Given the description of an element on the screen output the (x, y) to click on. 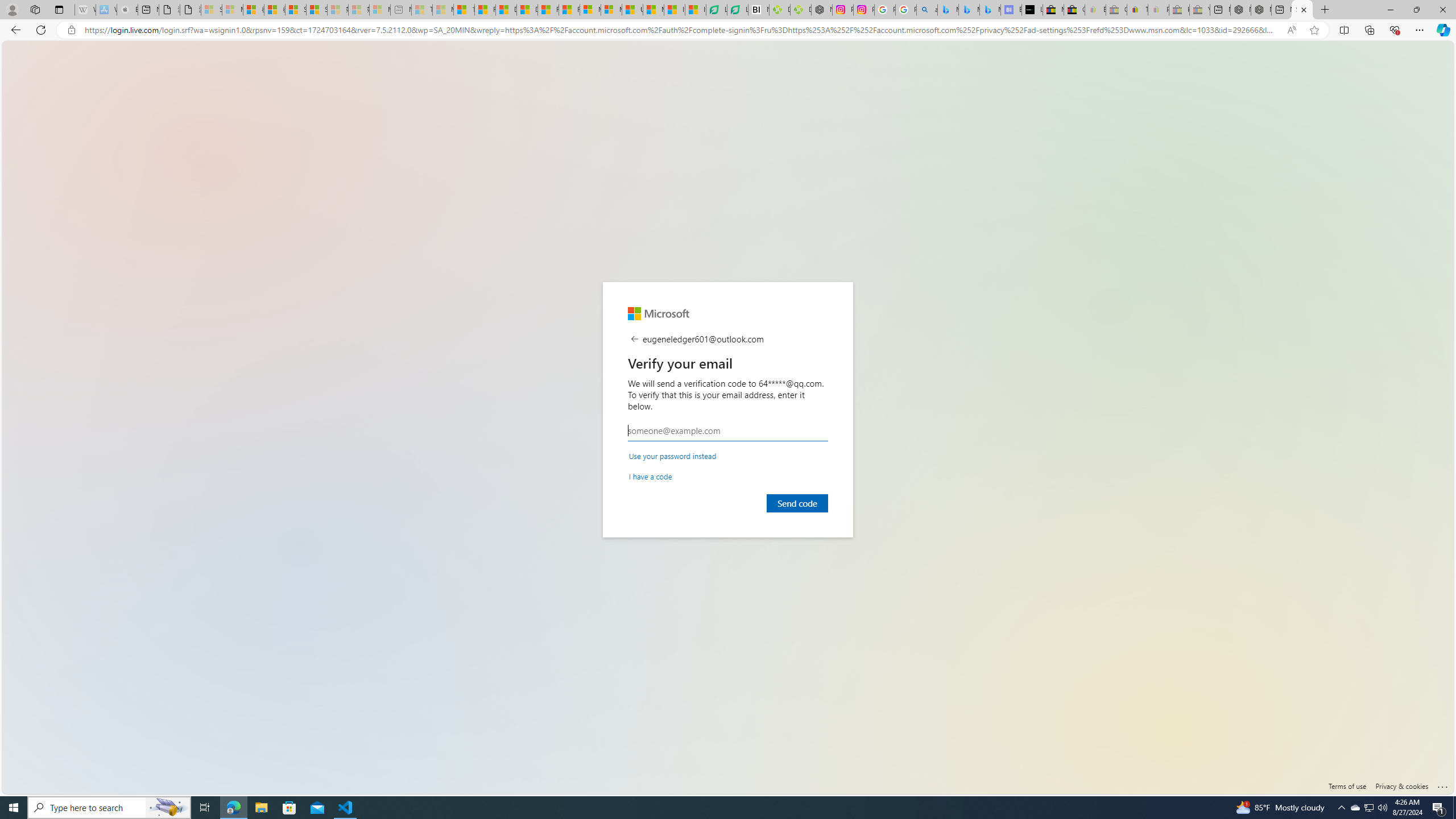
Nvidia va a poner a prueba la paciencia de los inversores (759, 9)
Sign in to your Microsoft account - Sleeping (211, 9)
Food and Drink - MSN (485, 9)
Yard, Garden & Outdoor Living - Sleeping (1199, 9)
Press Room - eBay Inc. - Sleeping (1178, 9)
